Given the description of an element on the screen output the (x, y) to click on. 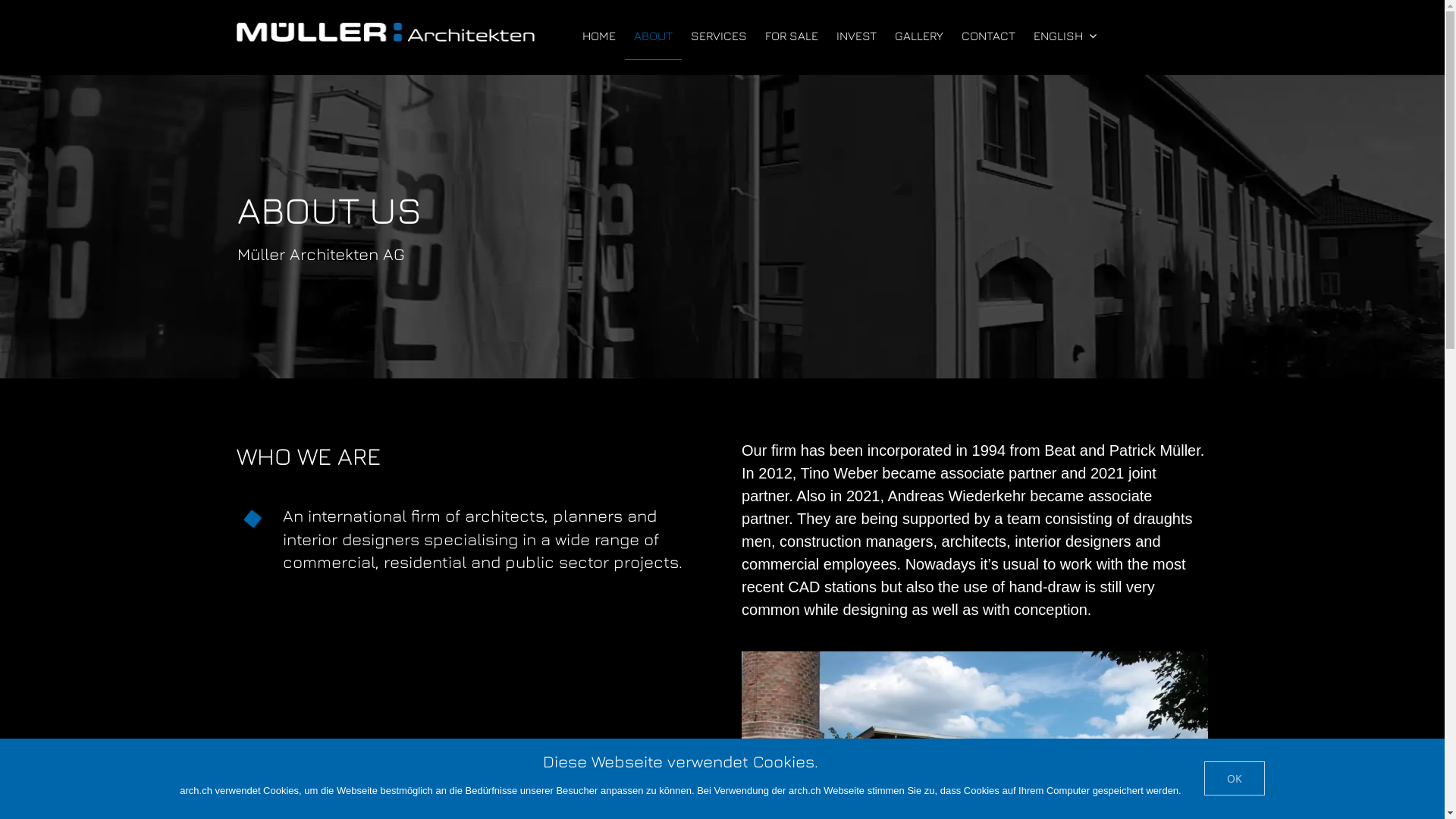
About 03 Element type: hover (974, 658)
OK Element type: text (1234, 778)
ABOUT Element type: text (652, 35)
HOME Element type: text (598, 35)
INVEST Element type: text (856, 35)
ENGLISH Element type: text (1064, 35)
FOR SALE Element type: text (791, 35)
CONTACT Element type: text (988, 35)
INTERNER CHAT Element type: text (353, 53)
GALLERY Element type: text (918, 35)
SERVICES Element type: text (718, 35)
